Given the description of an element on the screen output the (x, y) to click on. 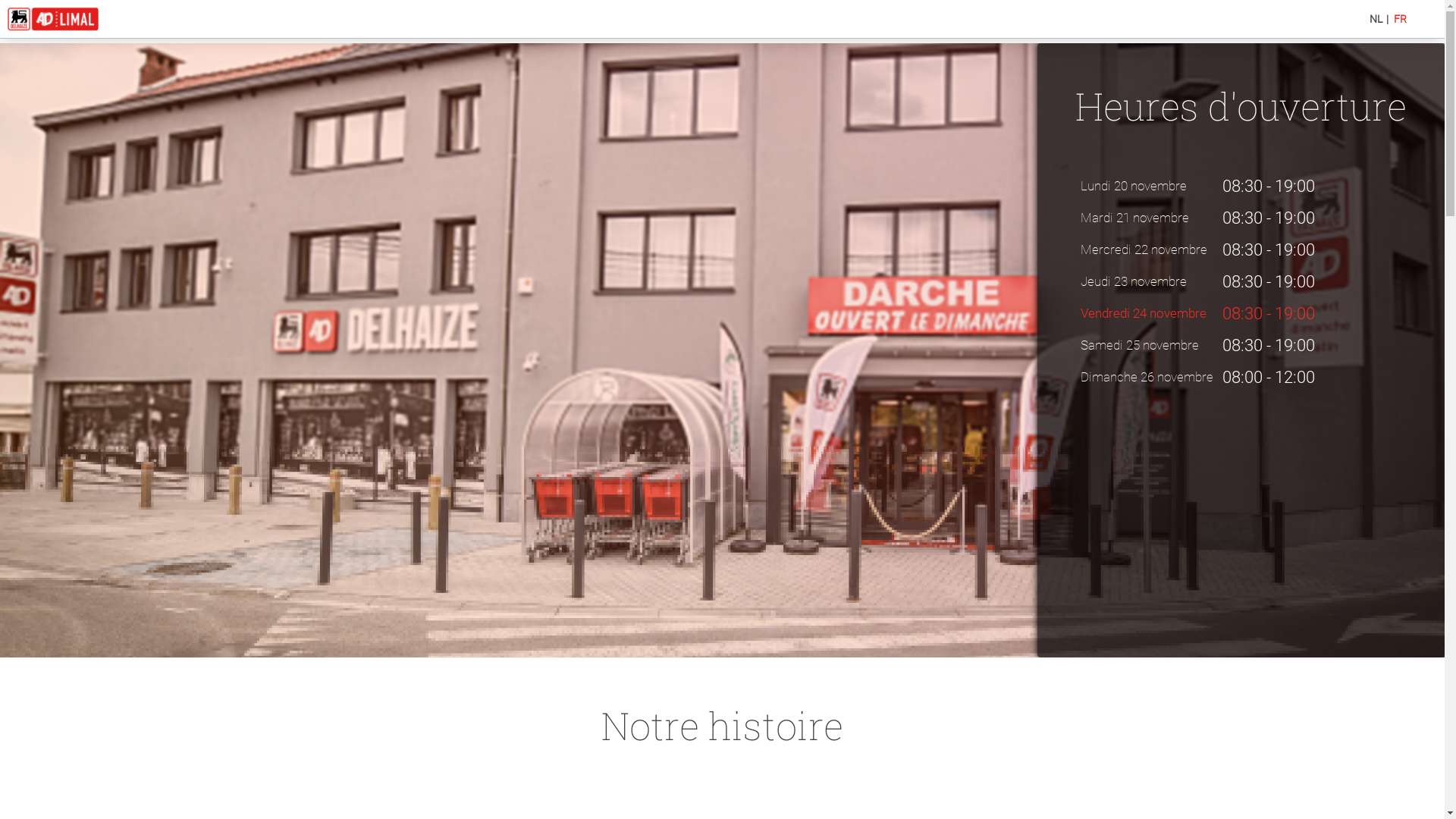
FR Element type: text (1399, 18)
NL Element type: text (1375, 18)
